Given the description of an element on the screen output the (x, y) to click on. 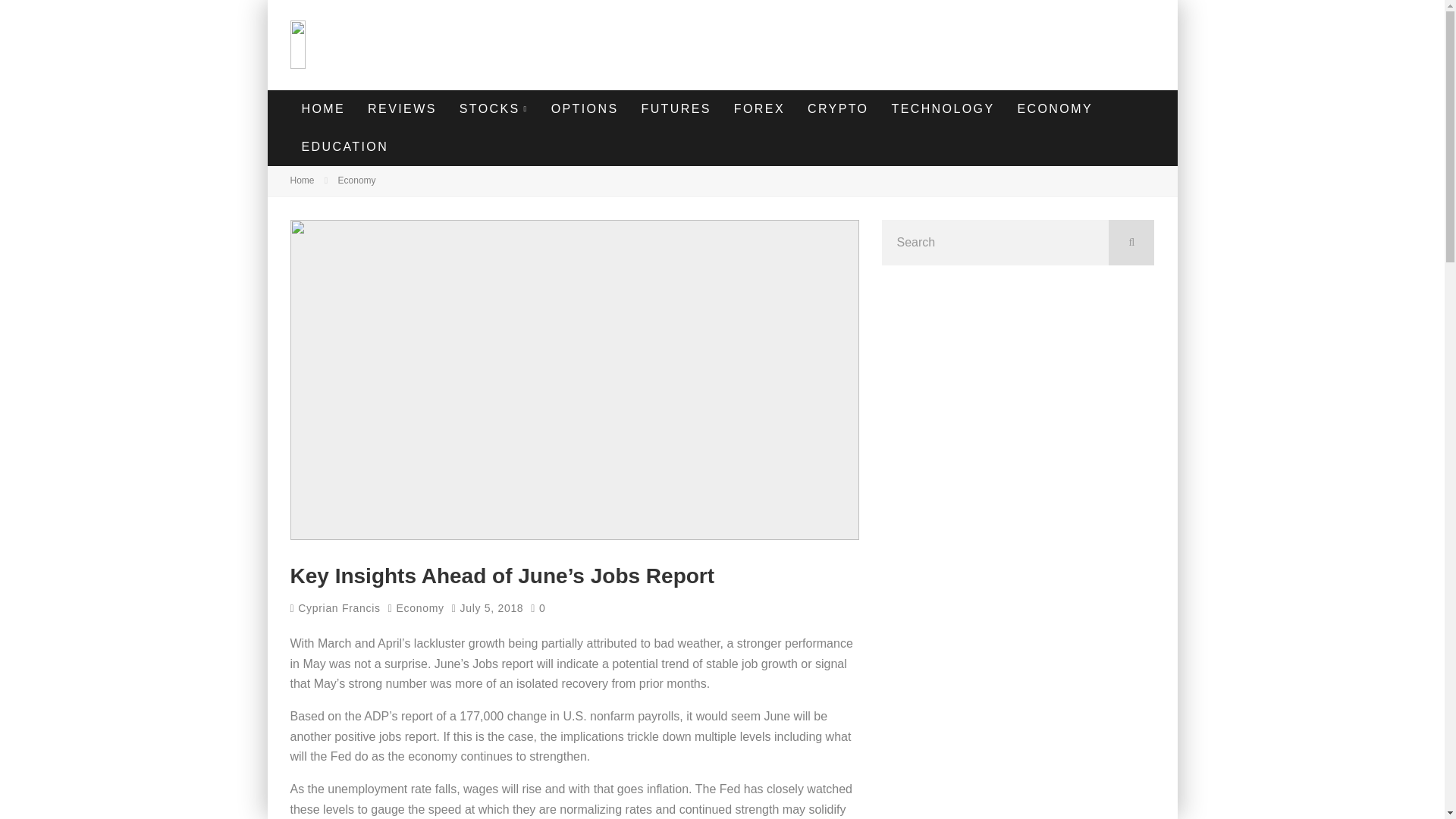
REVIEWS (402, 108)
OPTIONS (585, 108)
STOCKS (494, 108)
HOME (322, 108)
